Given the description of an element on the screen output the (x, y) to click on. 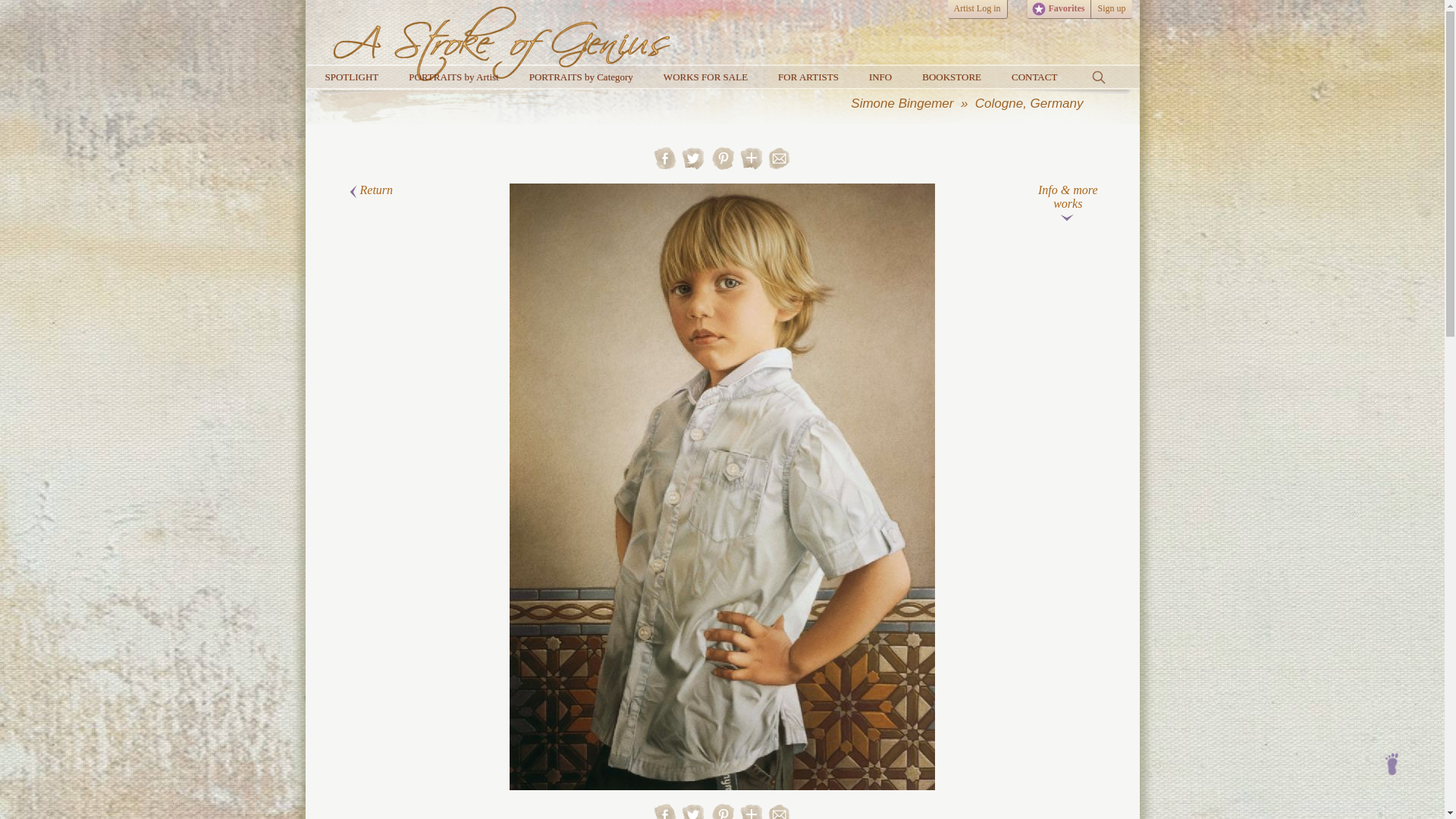
SPOTLIGHT (350, 76)
Sign up (1110, 9)
Add to favorites (750, 165)
PORTRAITS by Category (580, 76)
Favorites (1058, 9)
Pin it (723, 165)
Artist Log in (977, 9)
Your Favorite Portraits (1037, 8)
Tweet (694, 818)
Add to favorites (750, 158)
Pin it (723, 818)
Add to favorites (750, 811)
Share on Facebook (665, 165)
Share on Facebook (665, 818)
Add to favorites (750, 818)
